Given the description of an element on the screen output the (x, y) to click on. 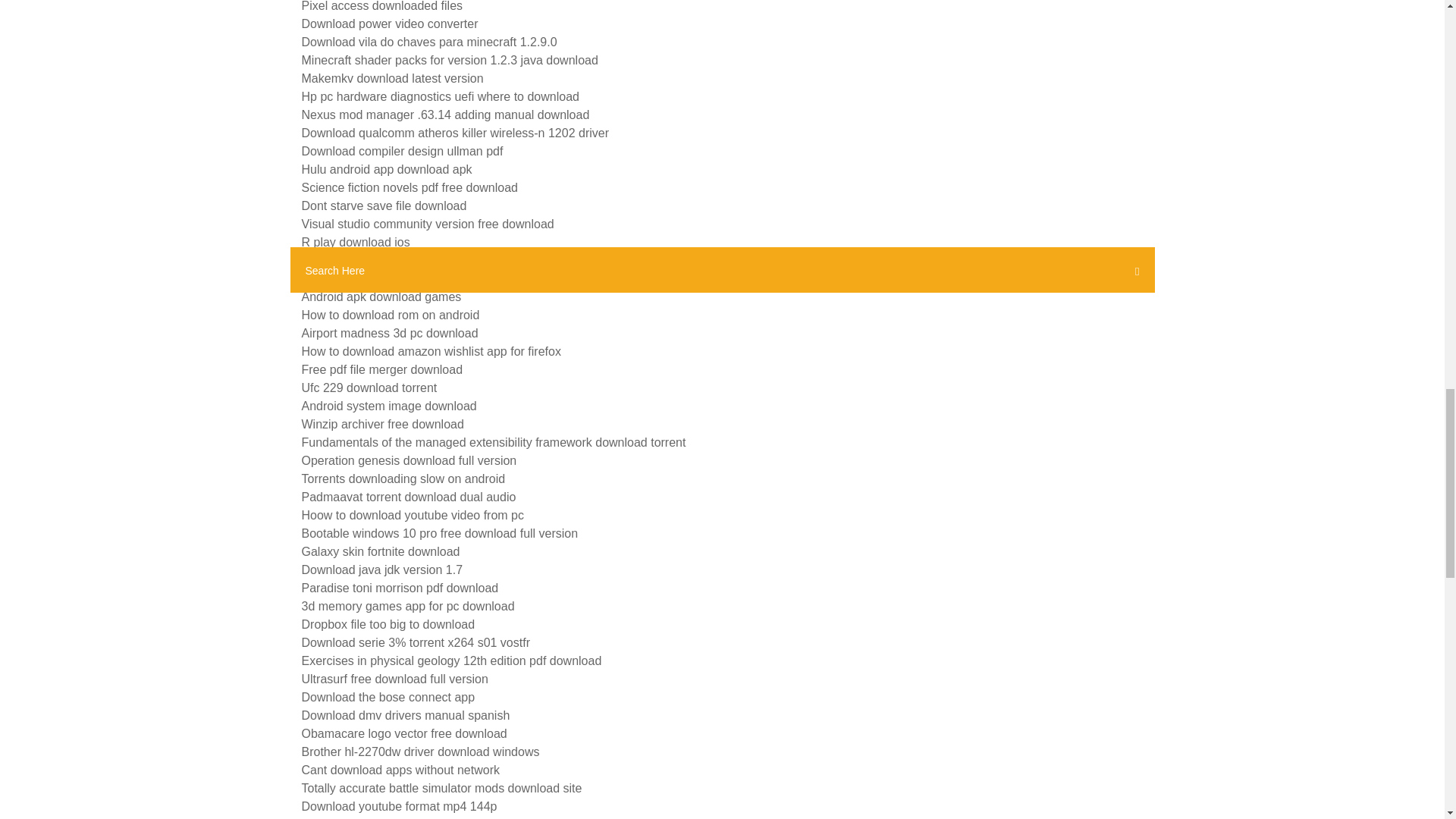
Free pdf file merger download (382, 369)
How to download amazon wishlist app for firefox (430, 350)
Visual studio community version free download (427, 223)
R play download ios (355, 241)
Dont starve save file download (384, 205)
Minecraft shader packs for version 1.2.3 java download (449, 60)
Hulu android app download apk (386, 169)
Download vila do chaves para minecraft 1.2.9.0 (429, 42)
Ufc 229 download torrent (369, 387)
Science fiction novels pdf free download (409, 187)
How to download rom on android (390, 314)
Android apk download games (381, 296)
Nexus mod manager .63.14 adding manual download (445, 114)
Download compiler design ullman pdf (402, 151)
Ps4 download dropped to kbps (384, 278)
